Given the description of an element on the screen output the (x, y) to click on. 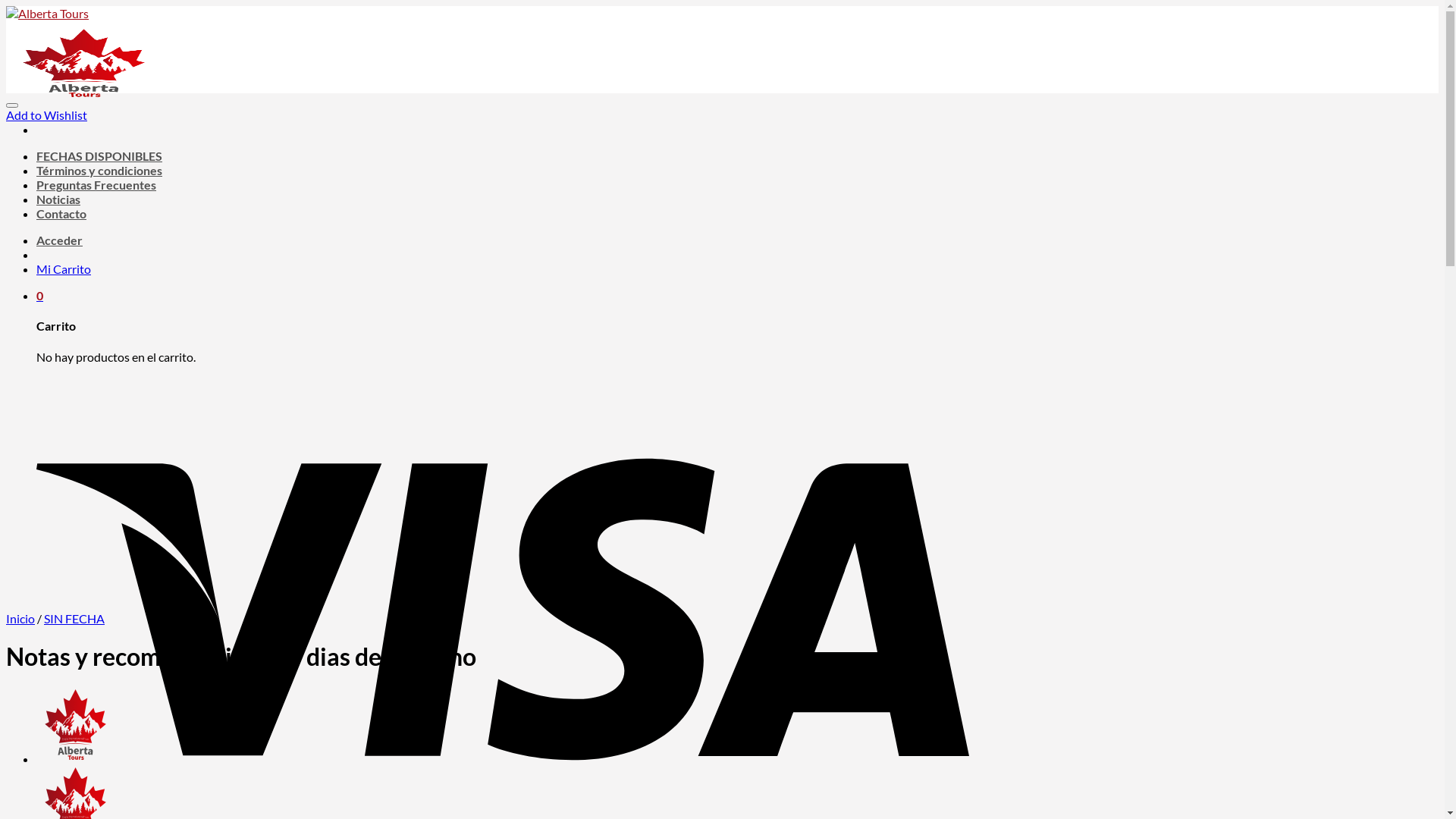
Acceder Element type: text (59, 239)
Add to Wishlist Element type: text (46, 114)
0 Element type: text (39, 295)
SIN FECHA Element type: text (73, 618)
Hoteles Element type: hover (74, 758)
Contacto Element type: text (61, 213)
Noticias Element type: text (58, 198)
Inicio Element type: text (20, 618)
Skip to content Element type: text (5, 5)
Preguntas Frecuentes Element type: text (96, 184)
Mi Carrito Element type: text (63, 268)
FECHAS DISPONIBLES Element type: text (99, 155)
